Given the description of an element on the screen output the (x, y) to click on. 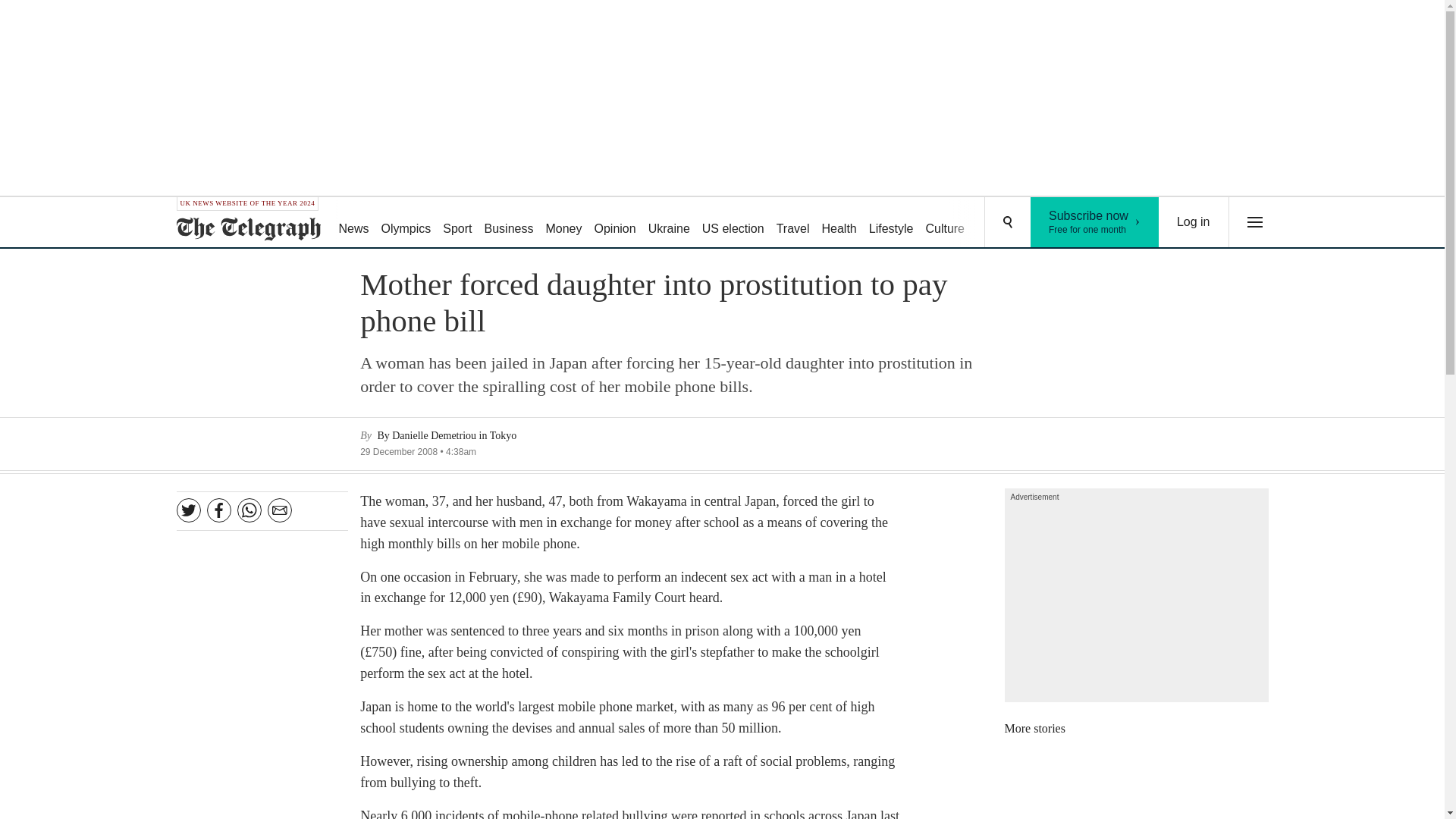
Money (563, 223)
Log in (1193, 222)
Podcasts (1056, 223)
US election (732, 223)
Travel (792, 223)
Culture (944, 223)
Lifestyle (891, 223)
Olympics (406, 223)
Ukraine (1094, 222)
Health (668, 223)
Business (838, 223)
Puzzles (509, 223)
Opinion (998, 223)
